Given the description of an element on the screen output the (x, y) to click on. 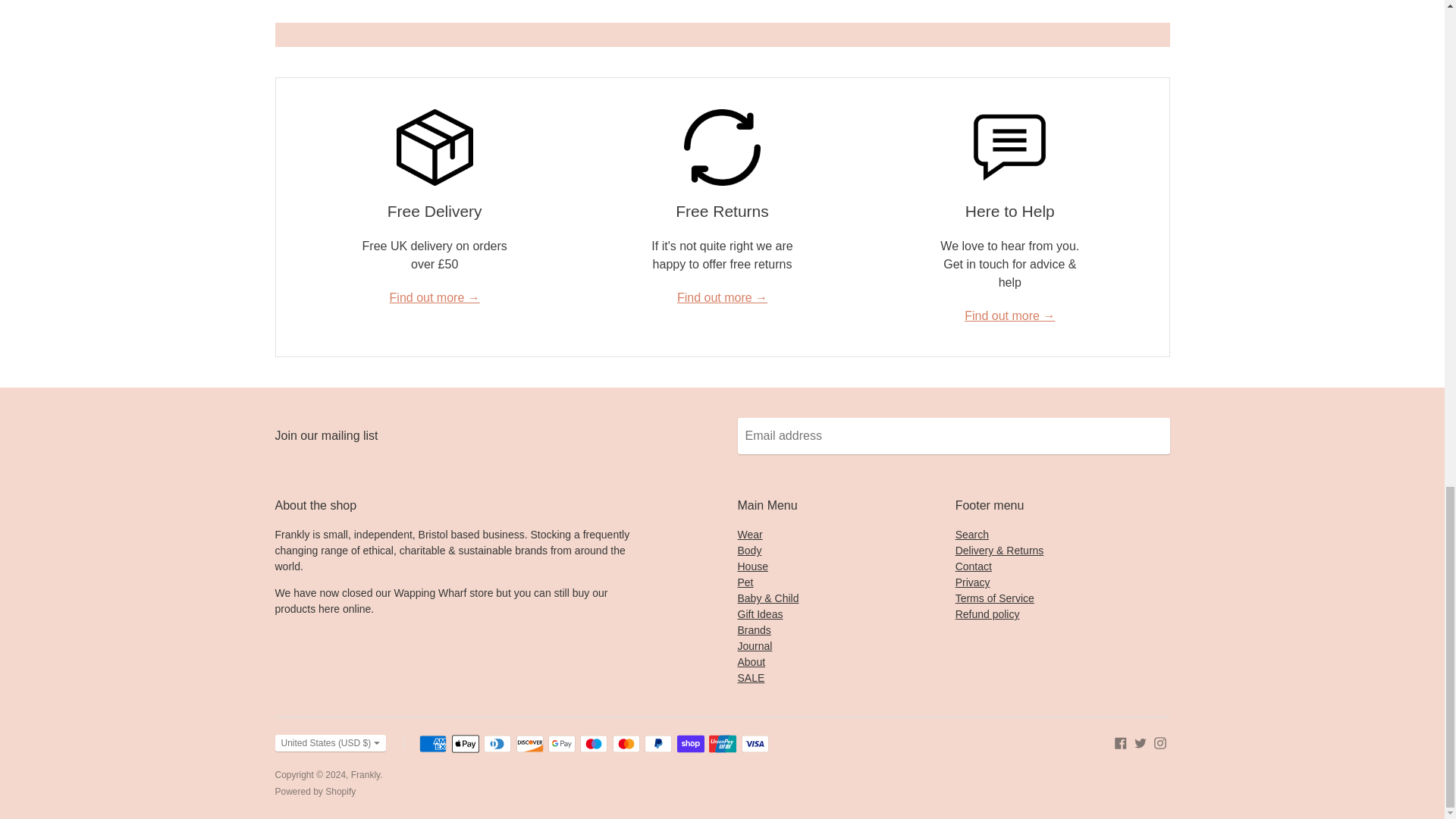
Google Pay (561, 743)
Frankly on Facebook (1120, 741)
Frankly on Instagram (1160, 741)
Diners Club (497, 743)
Apple Pay (465, 743)
Frankly on Twitter (1140, 741)
Discover (529, 743)
American Express (432, 743)
Maestro (593, 743)
Mastercard (626, 743)
